Given the description of an element on the screen output the (x, y) to click on. 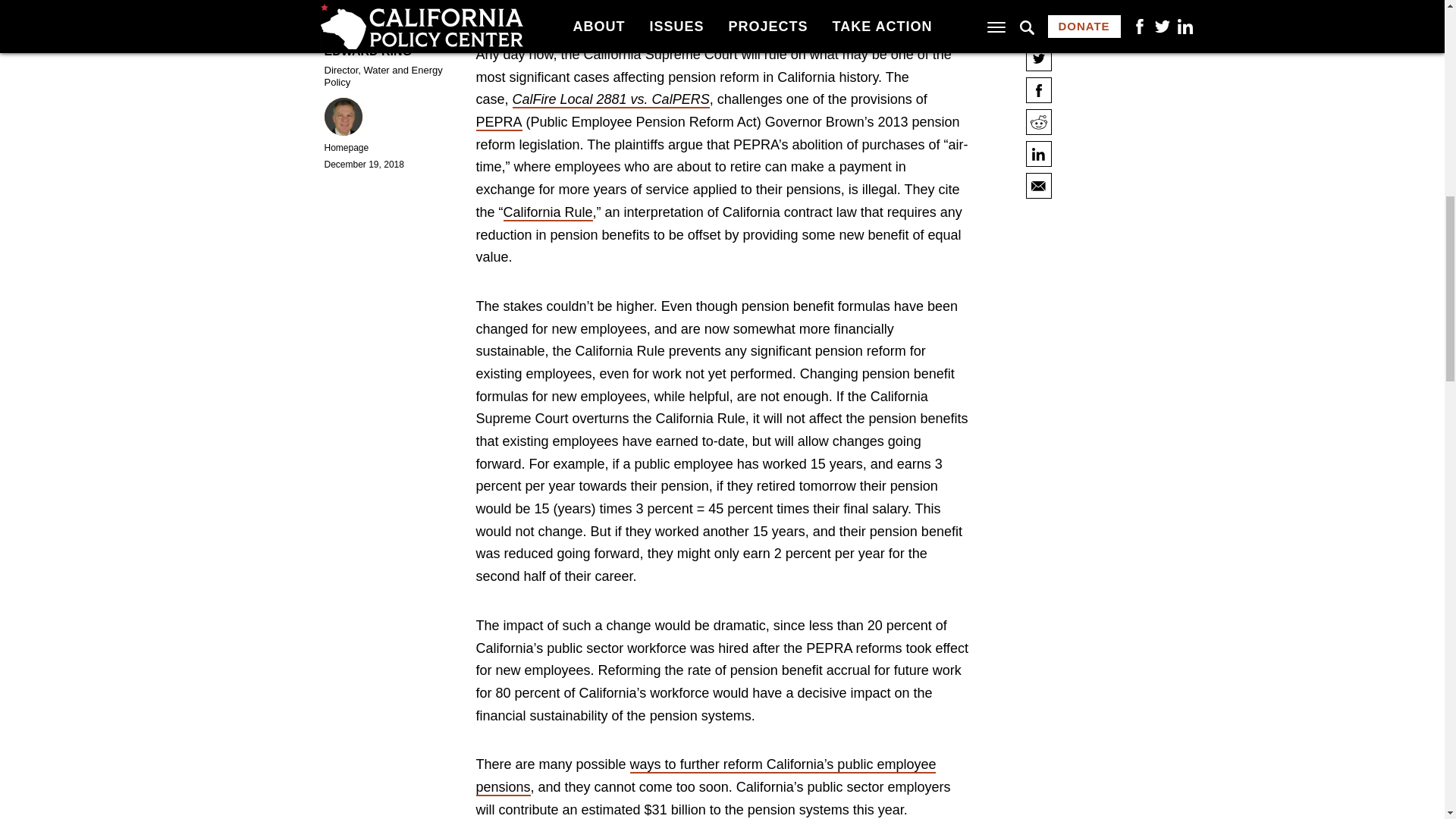
ISSUES (614, 410)
Education Reform (628, 431)
Contact (600, 357)
ABOUT (612, 316)
Meet the Team (619, 337)
Newsletter Signup (628, 376)
